Given the description of an element on the screen output the (x, y) to click on. 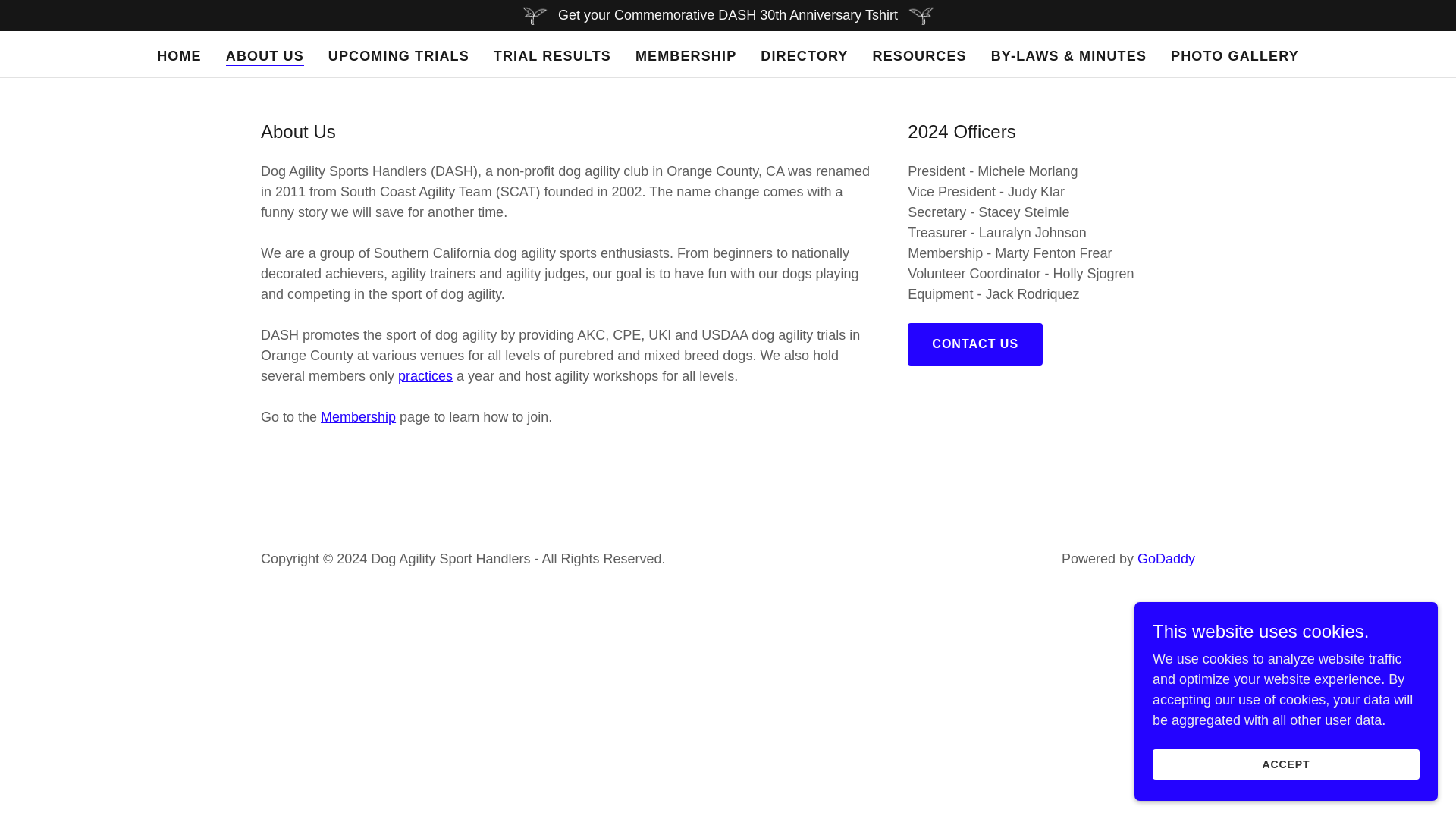
UPCOMING TRIALS (398, 55)
TRIAL RESULTS (552, 55)
CONTACT US (974, 343)
MEMBERSHIP (685, 55)
practices (424, 376)
PHOTO GALLERY (1234, 55)
DIRECTORY (803, 55)
Membership (358, 417)
GoDaddy (1166, 558)
ABOUT US (264, 56)
